Given the description of an element on the screen output the (x, y) to click on. 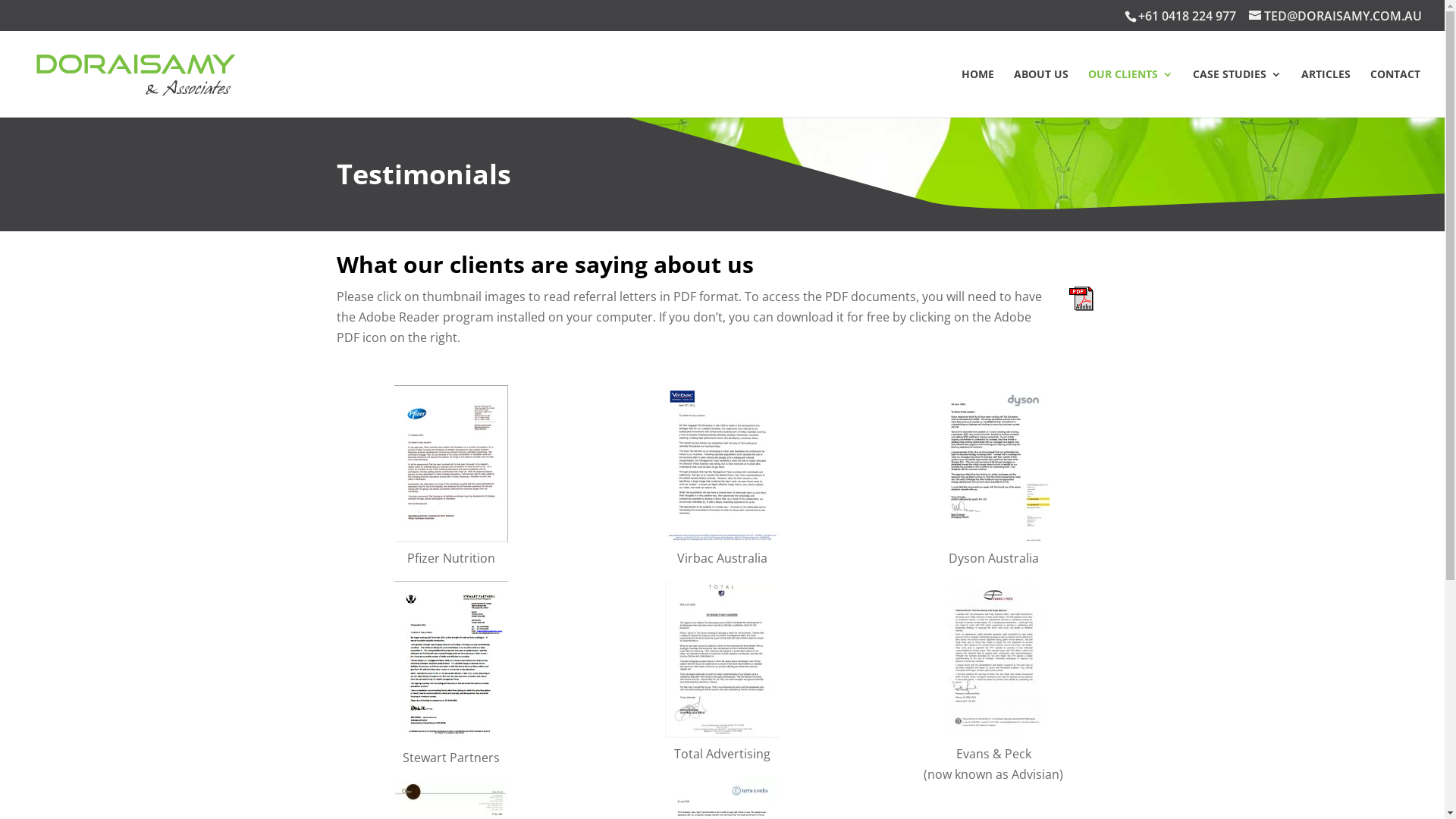
ABOUT US Element type: text (1040, 93)
CONTACT Element type: text (1395, 93)
PDF Element type: hover (1081, 298)
CASE STUDIES Element type: text (1236, 93)
HOME Element type: text (977, 93)
Testimonial-Stewart-Partner Element type: hover (451, 660)
TED@DORAISAMY.COM.AU Element type: text (1334, 15)
OUR CLIENTS Element type: text (1130, 93)
ARTICLES Element type: text (1325, 93)
Total-Advertising Element type: hover (721, 658)
Dyson Element type: hover (993, 463)
Testimonial-Pfizer Element type: hover (451, 463)
Testimonial-Virbac Element type: hover (721, 463)
Evans & Peck Element type: hover (993, 658)
